Given the description of an element on the screen output the (x, y) to click on. 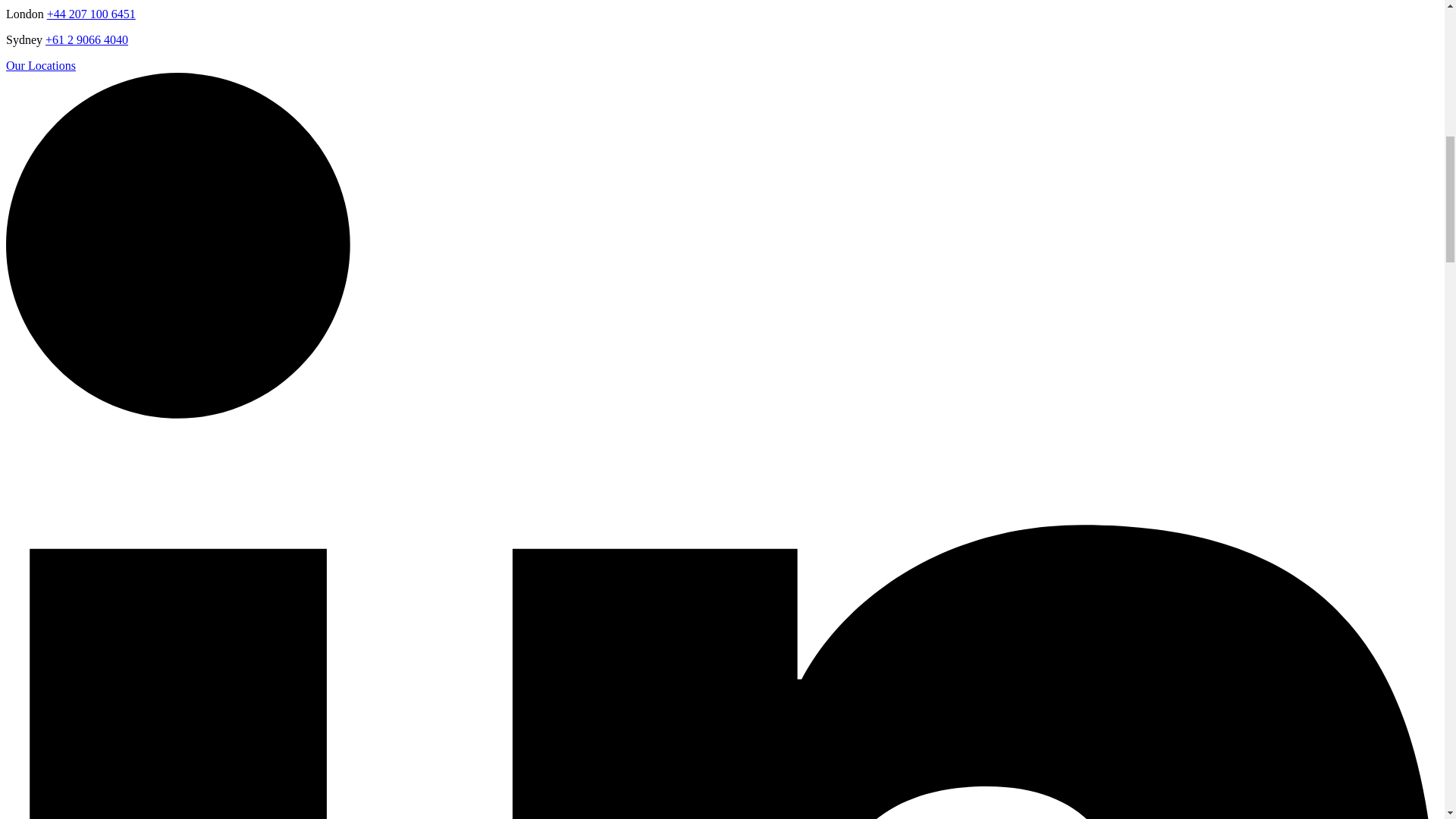
Our Locations (40, 65)
